Given the description of an element on the screen output the (x, y) to click on. 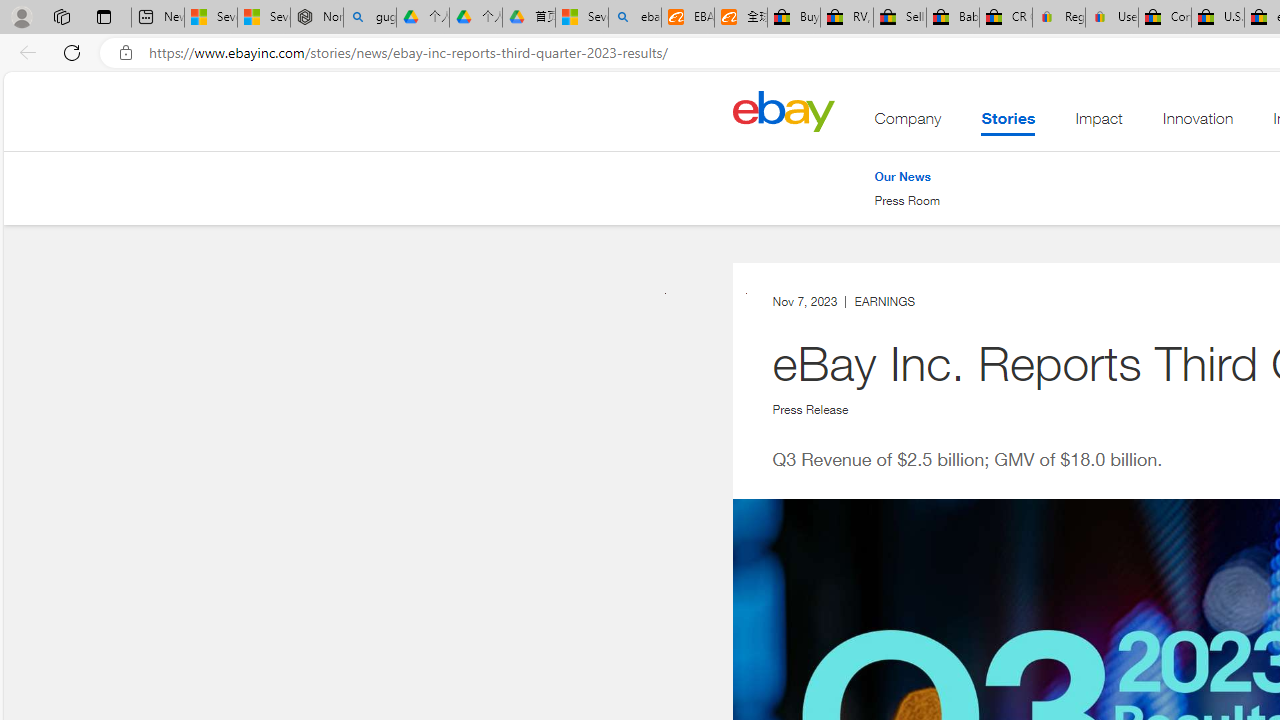
Impact (1098, 123)
Innovation (1197, 123)
Our News (907, 176)
Innovation (1197, 123)
Class: desktop (783, 110)
Company (908, 123)
Buy Auto Parts & Accessories | eBay (794, 17)
Stories (1007, 123)
Company (908, 123)
